Given the description of an element on the screen output the (x, y) to click on. 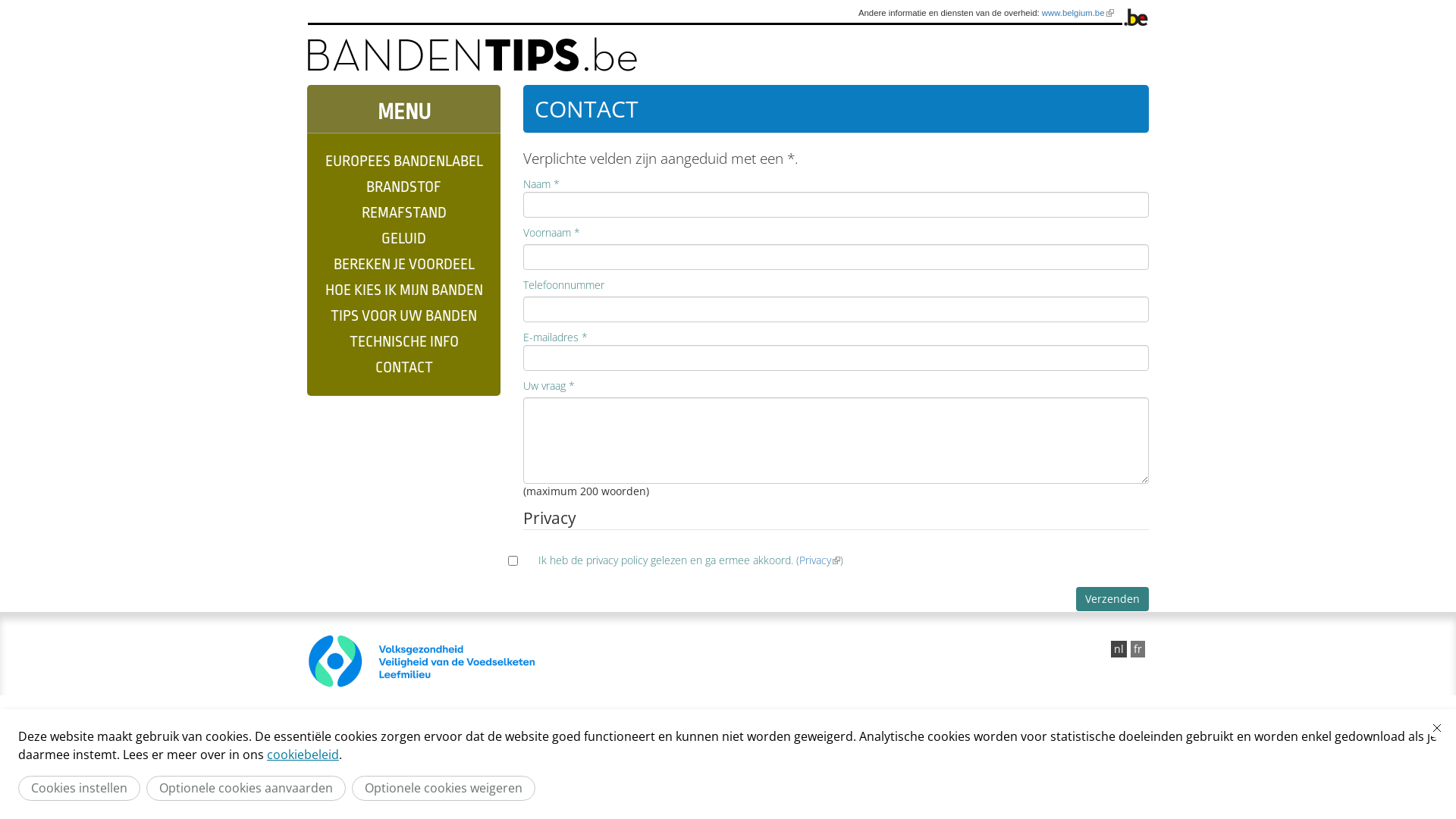
GELUID Element type: text (403, 238)
www.belgium.be
(link is external) Element type: text (1077, 12)
Privacy
(link is external) Element type: text (819, 559)
Optionele cookies aanvaarden Element type: text (245, 787)
CONTACT Element type: text (403, 367)
fr Element type: text (1137, 648)
Ga naar hoofdinhoud Element type: text (32, 0)
BEREKEN JE VOORDEEL Element type: text (403, 264)
nl Element type: text (1118, 648)
Verzenden Element type: text (1112, 598)
Sluiten Element type: hover (1436, 727)
cookiebeleid Element type: text (302, 754)
HOE KIES IK MIJN BANDEN Element type: text (403, 290)
REMAFSTAND Element type: text (403, 212)
BRANDSTOF Element type: text (403, 187)
TECHNISCHE INFO Element type: text (403, 341)
(This hyperlink opens a new window) Element type: text (511, 660)
TIPS VOOR UW BANDEN Element type: text (403, 316)
Optionele cookies weigeren Element type: text (443, 787)
EUROPEES BANDENLABEL Element type: text (403, 161)
Return to the BANDENTIPS.BE homepage Element type: hover (472, 54)
Cookies instellen Element type: text (79, 787)
